Given the description of an element on the screen output the (x, y) to click on. 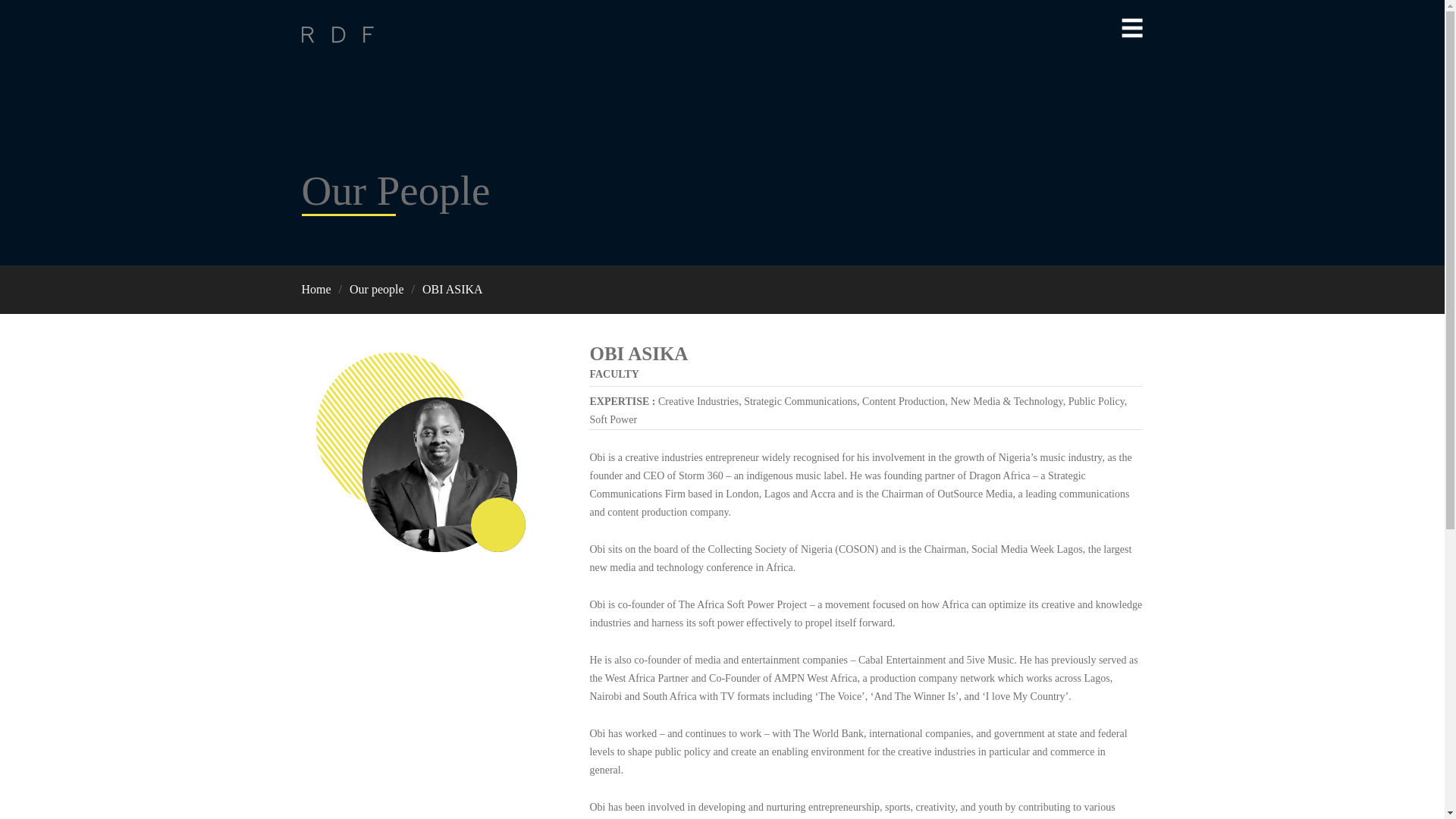
The Africa Soft Power Project (743, 604)
Home (316, 288)
Our people (376, 288)
